Given the description of an element on the screen output the (x, y) to click on. 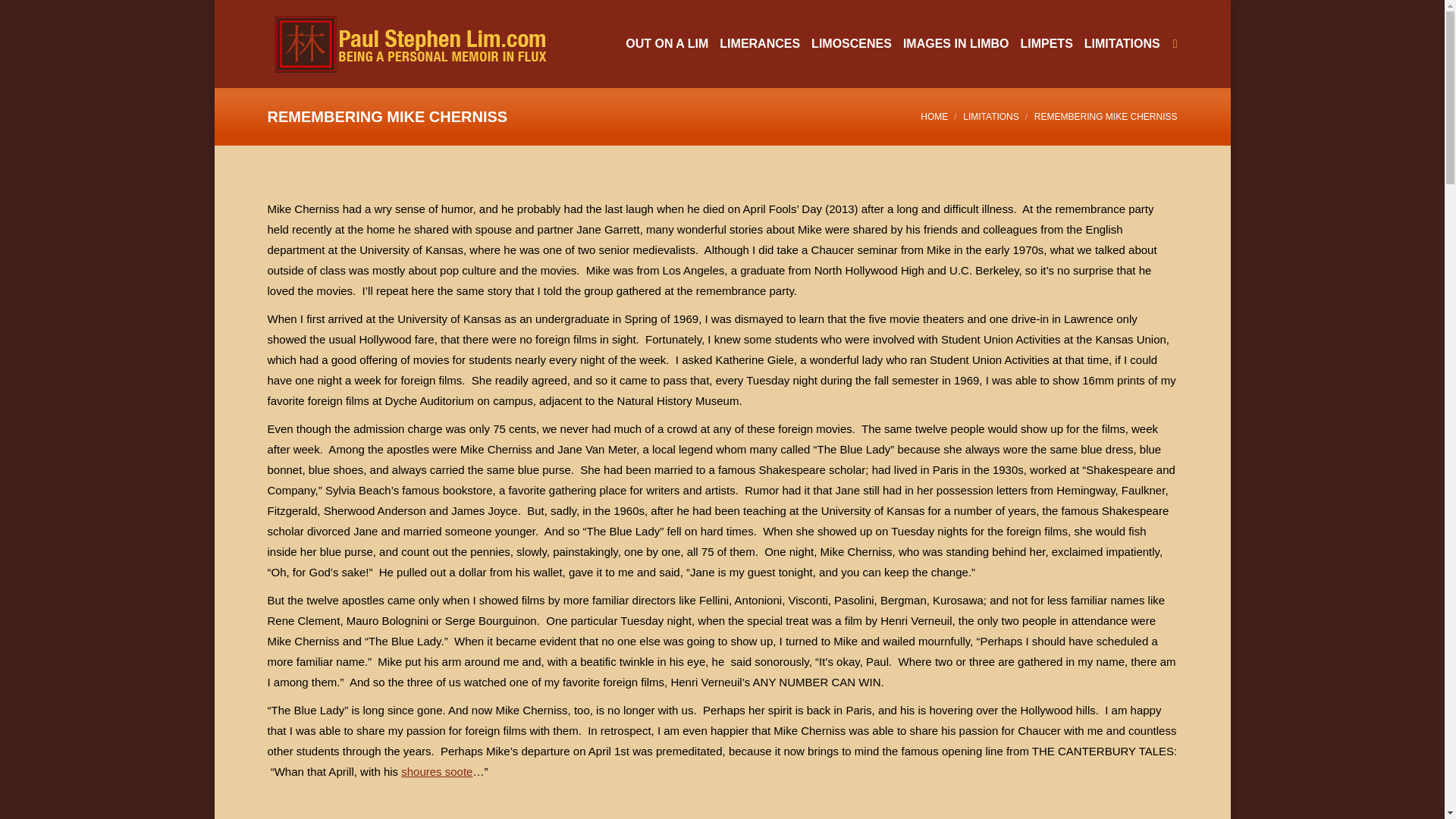
LIMERANCES (759, 43)
Home (933, 116)
OUT ON A LIM (666, 43)
LIMOSCENES (850, 43)
Go! (24, 15)
LIMITATIONS (990, 116)
IMAGES IN LIMBO (955, 43)
